Given the description of an element on the screen output the (x, y) to click on. 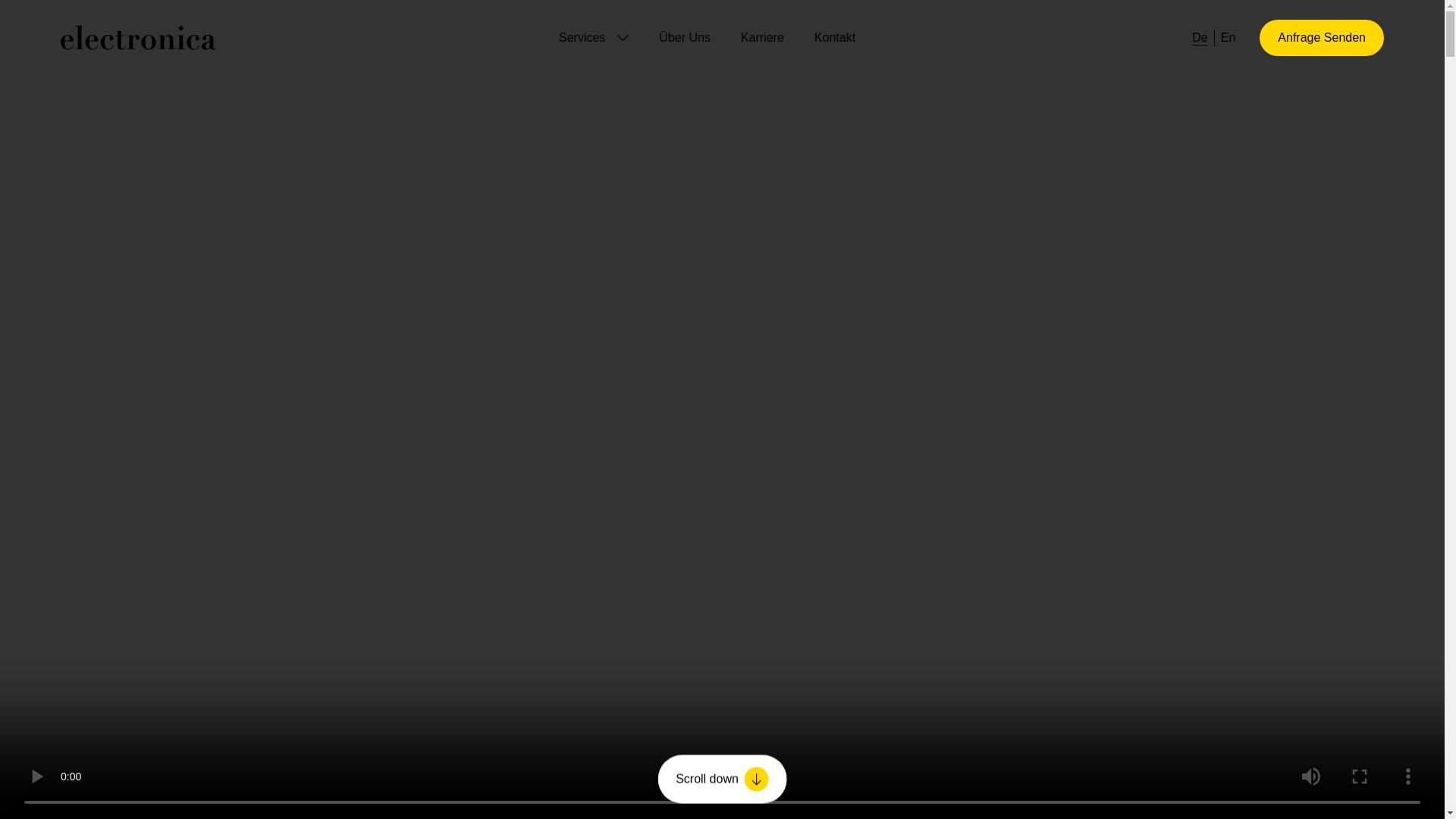
Anfrage Senden (1321, 37)
Scroll down (722, 776)
Karriere (762, 38)
Scroll down (722, 779)
Kontakt (834, 38)
Services (593, 37)
De (1200, 37)
En (1227, 37)
